Given the description of an element on the screen output the (x, y) to click on. 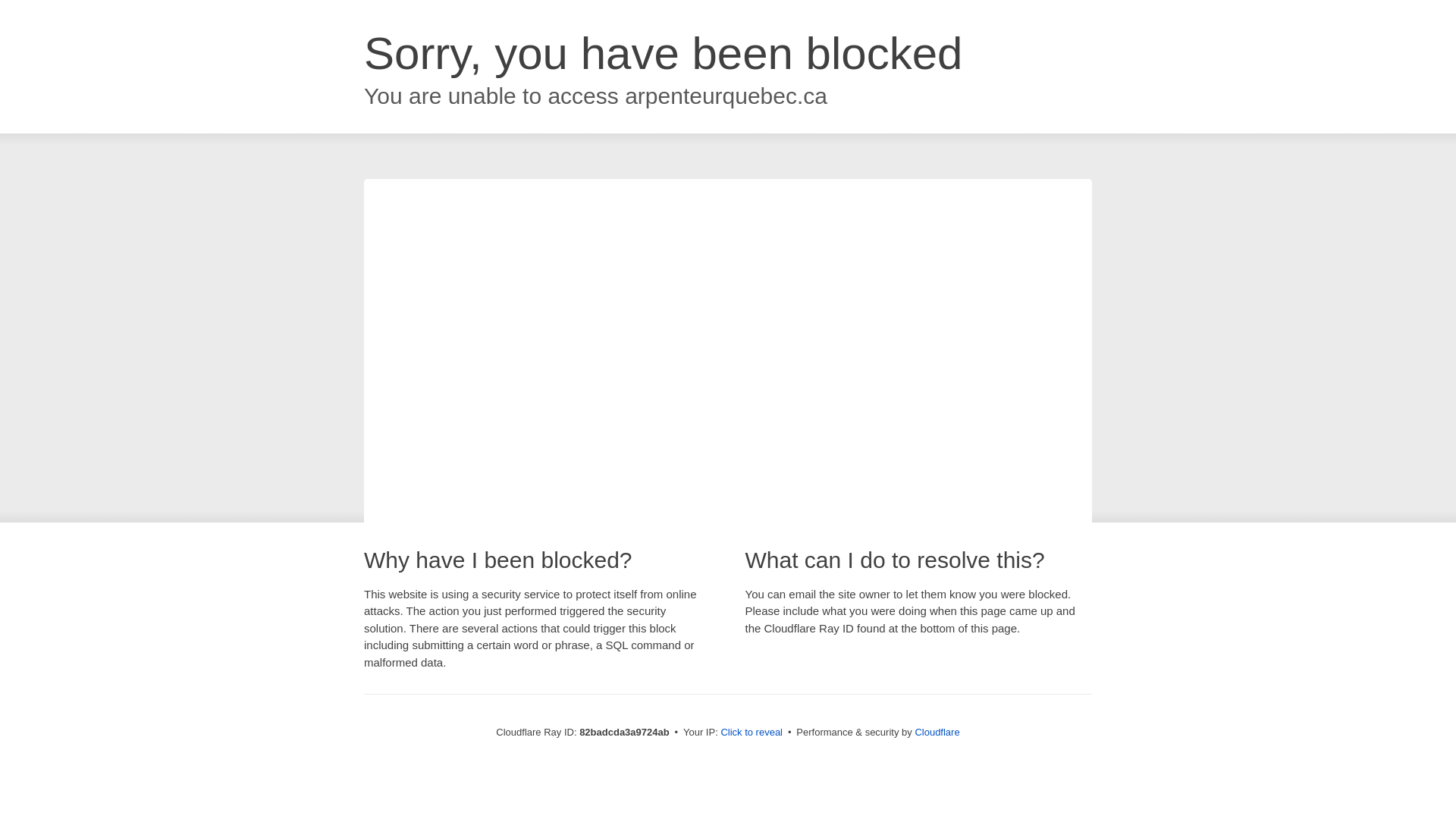
Click to reveal Element type: text (751, 732)
Cloudflare Element type: text (936, 731)
